Given the description of an element on the screen output the (x, y) to click on. 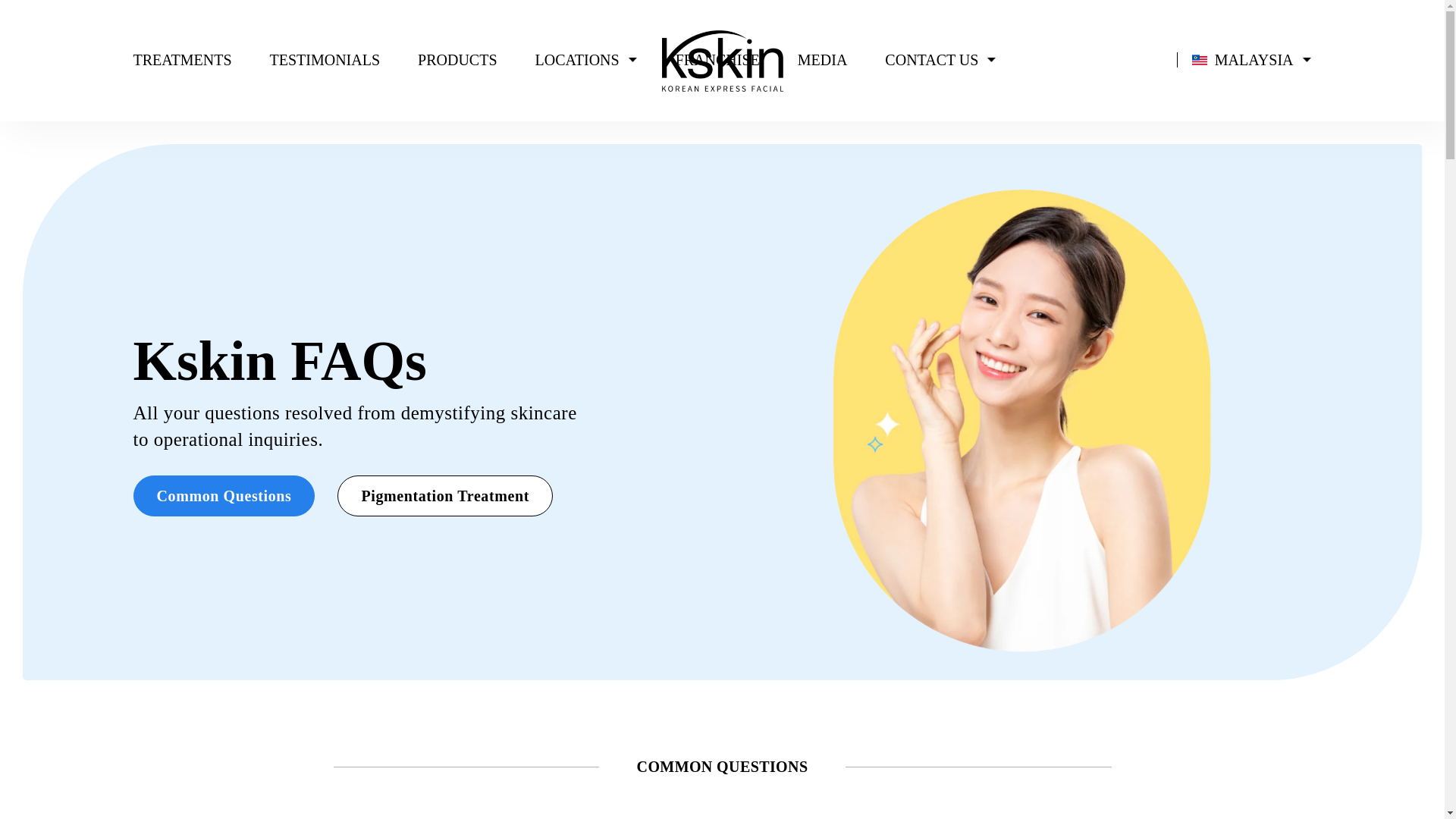
Common Questions (224, 495)
TESTIMONIALS (324, 59)
MALAYSIA (1235, 59)
Pigmentation Treatment (445, 495)
